Given the description of an element on the screen output the (x, y) to click on. 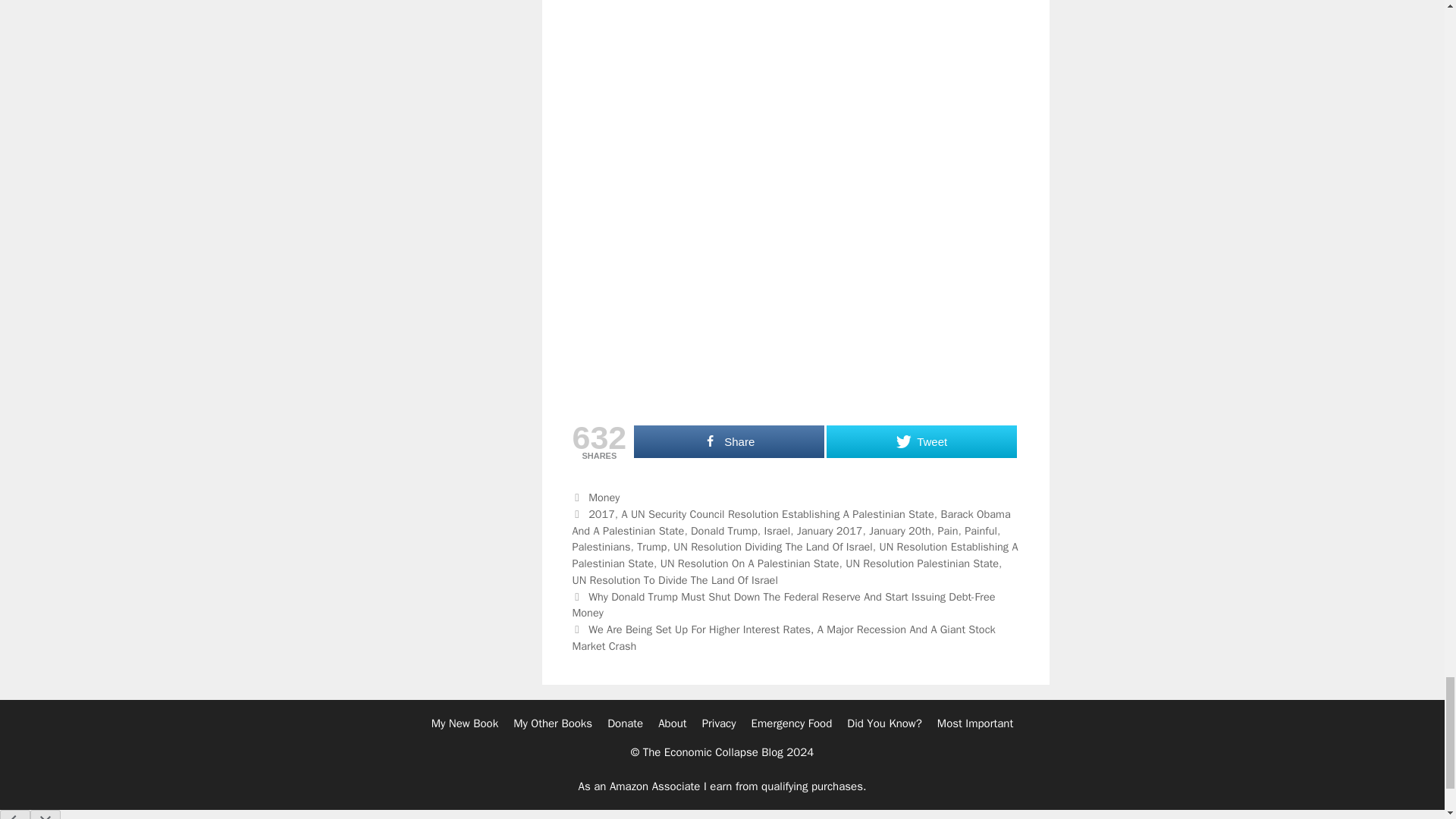
Barack Obama And A Palestinian State (791, 521)
UN Resolution Palestinian State (921, 563)
January 2017 (829, 530)
2017 (601, 513)
Tweet (921, 441)
Palestinians (601, 546)
UN Resolution Dividing The Land Of Israel (772, 546)
UN Resolution On A Palestinian State (750, 563)
Israel (776, 530)
Donald Trump (723, 530)
Pain (947, 530)
UN Resolution To Divide The Land Of Israel (674, 580)
January 20th (900, 530)
